Given the description of an element on the screen output the (x, y) to click on. 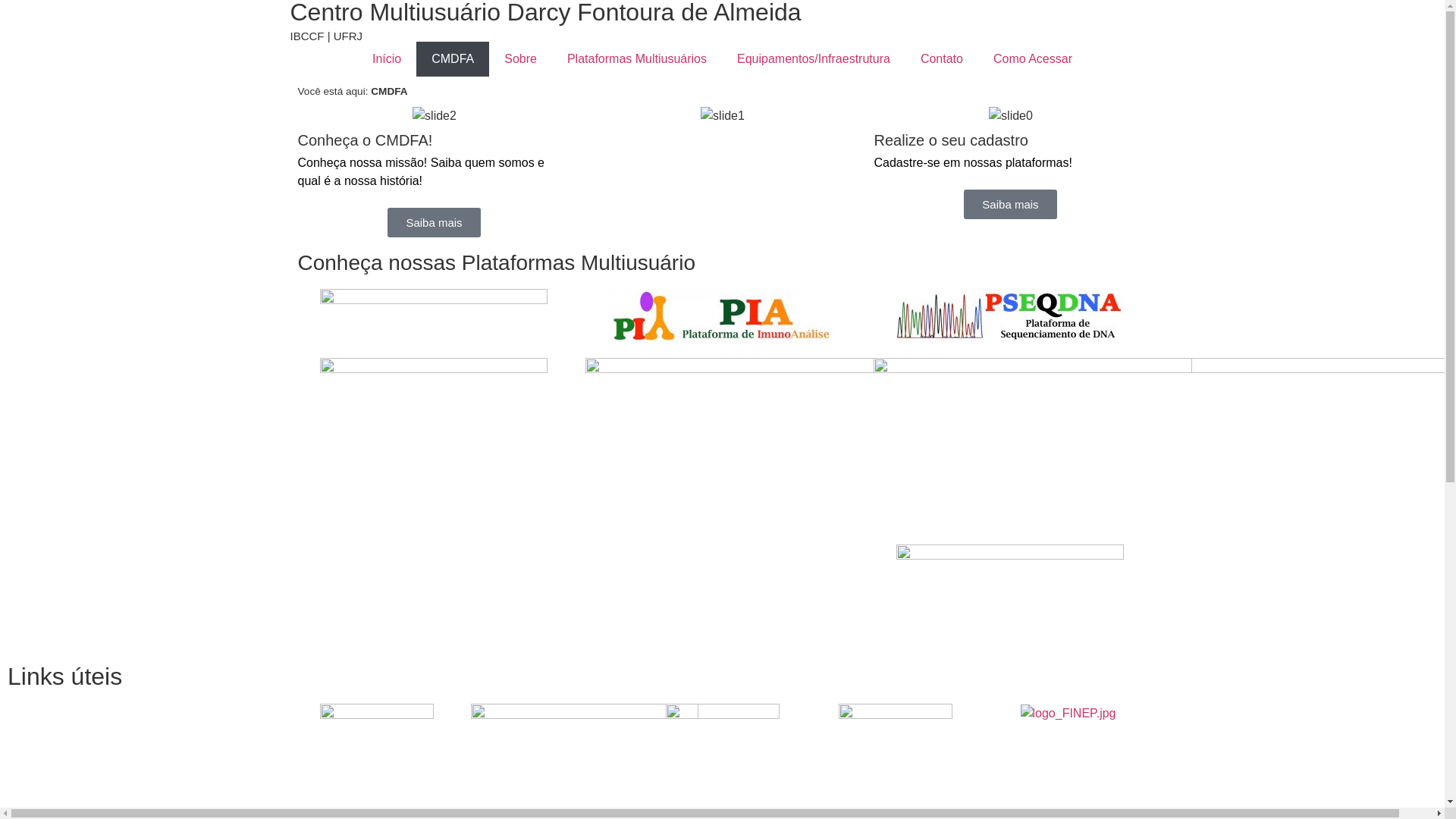
Saiba mais Element type: text (1009, 204)
CMDFA Element type: text (452, 58)
Sobre Element type: text (520, 58)
logo_FINEP.jpg Element type: hover (1068, 713)
Contato Element type: text (941, 58)
Equipamentos/Infraestrutura Element type: text (813, 58)
Como Acessar Element type: text (1032, 58)
Saiba mais Element type: text (433, 222)
